Given the description of an element on the screen output the (x, y) to click on. 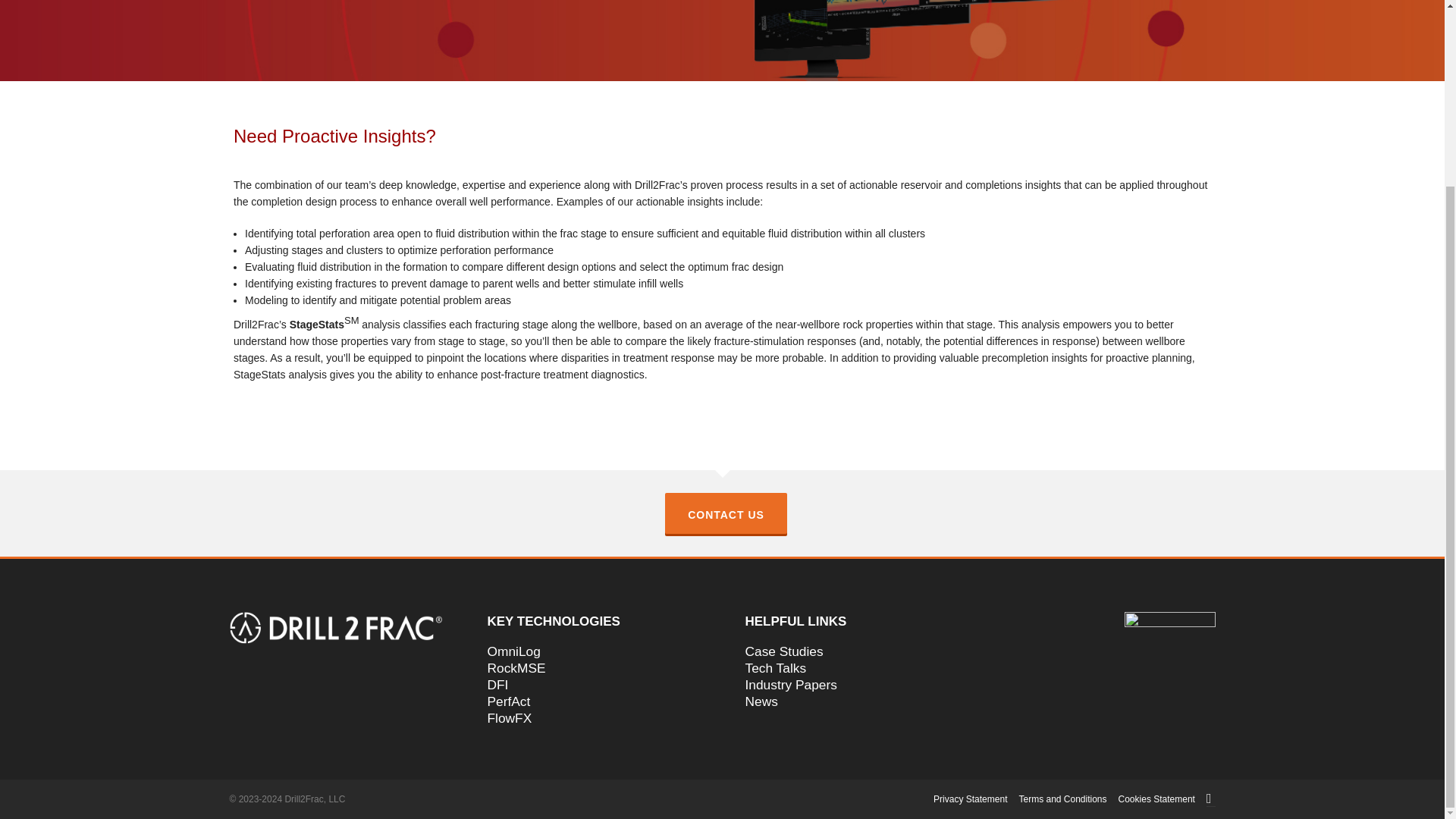
Tech Talks (850, 668)
OmniLog (592, 651)
Tech Talks (850, 668)
DFI (592, 684)
Case Studies (850, 651)
Case Studies and Industry Papers (850, 684)
News and Upcoming Events (850, 701)
CONTACT US (726, 513)
FlowFX (592, 718)
PerfAct (592, 701)
